Given the description of an element on the screen output the (x, y) to click on. 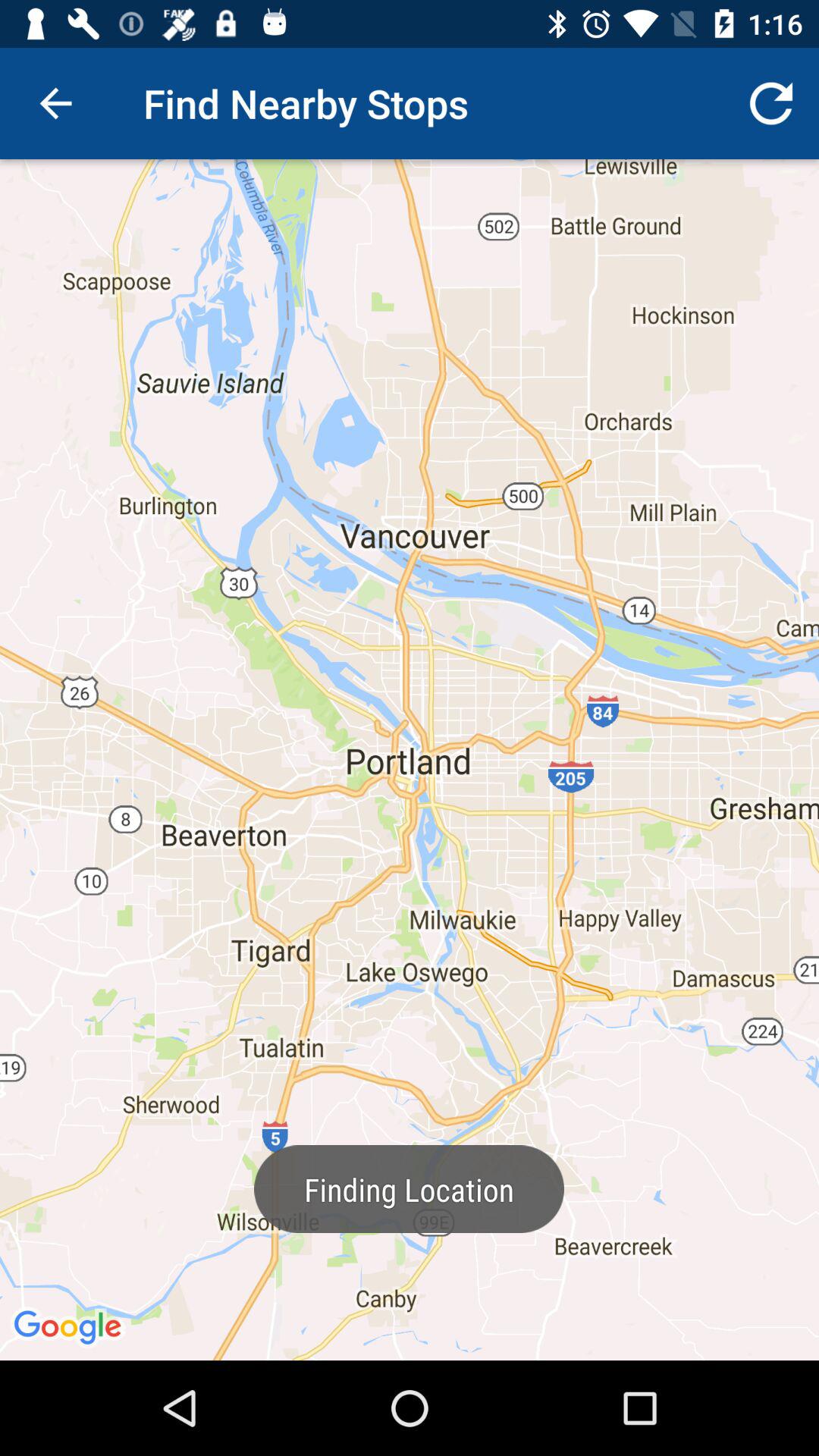
click item at the center (409, 759)
